Given the description of an element on the screen output the (x, y) to click on. 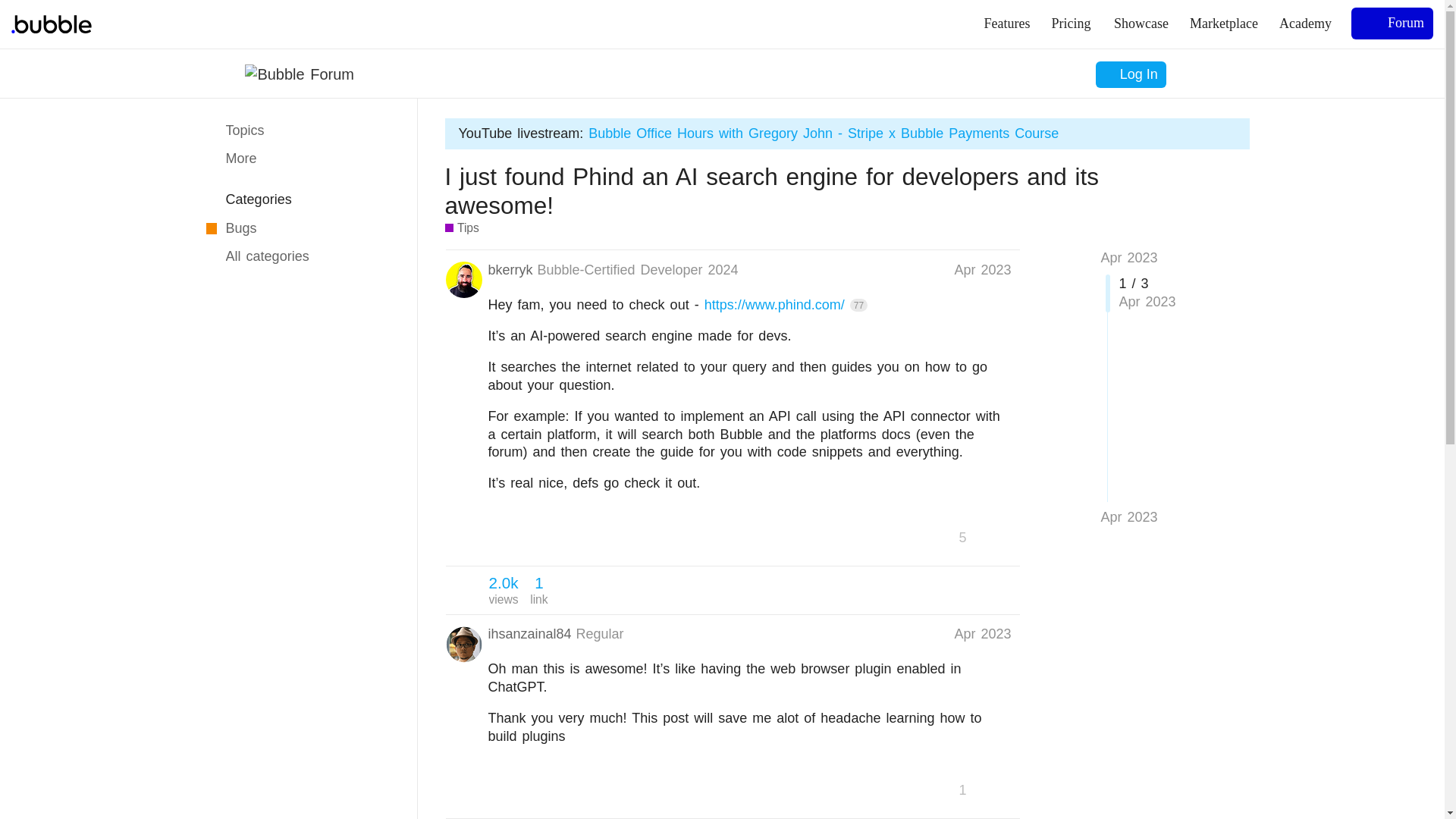
77 clicks (858, 305)
Jump to the last post (1128, 516)
More (300, 158)
Forum (1391, 23)
1 (967, 790)
Keyboard Shortcuts (394, 801)
copy a link to this post to clipboard (503, 590)
All topics (1004, 537)
5 (300, 130)
